Given the description of an element on the screen output the (x, y) to click on. 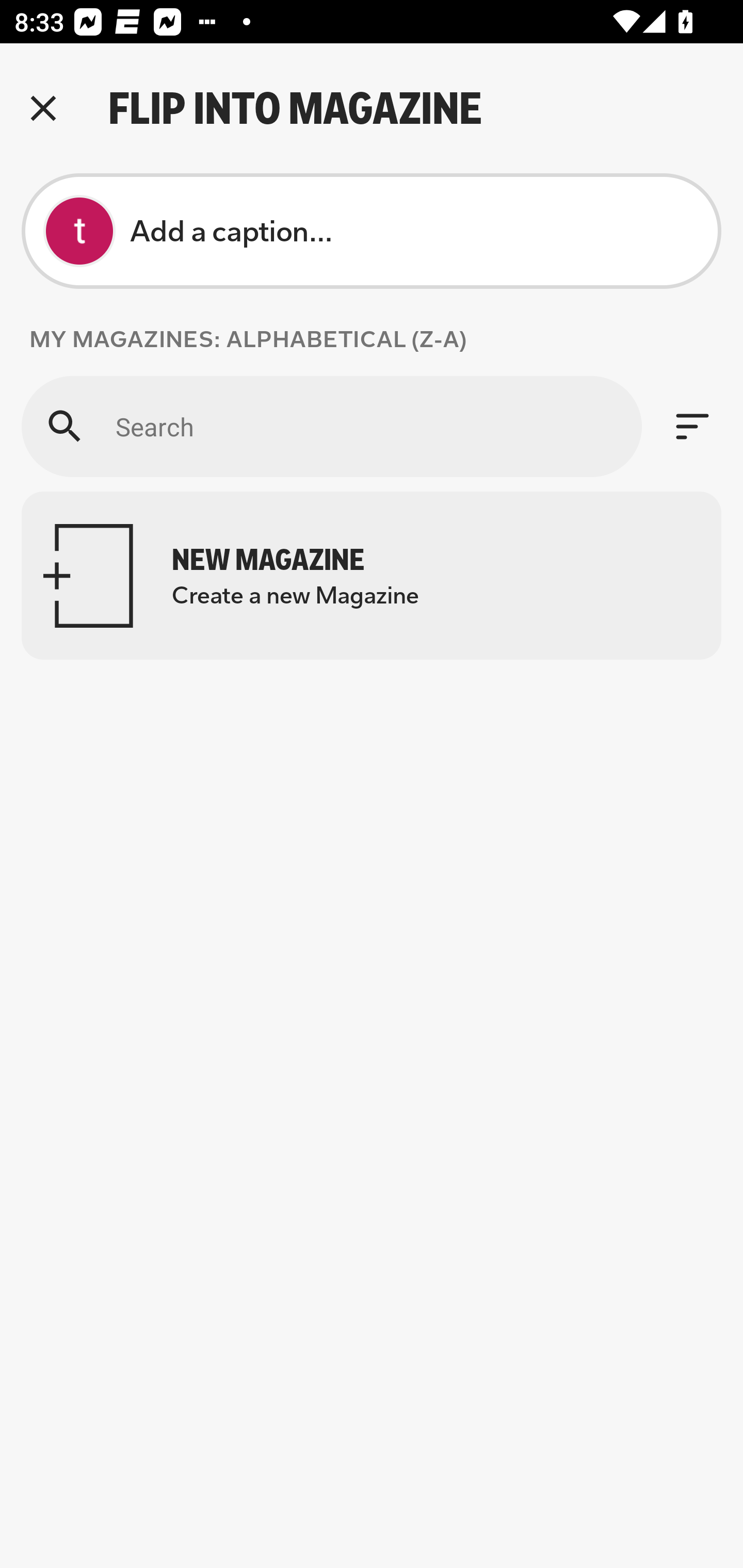
test appium Add a caption… (371, 231)
Search (331, 426)
NEW MAGAZINE Create a new Magazine (371, 575)
